Given the description of an element on the screen output the (x, y) to click on. 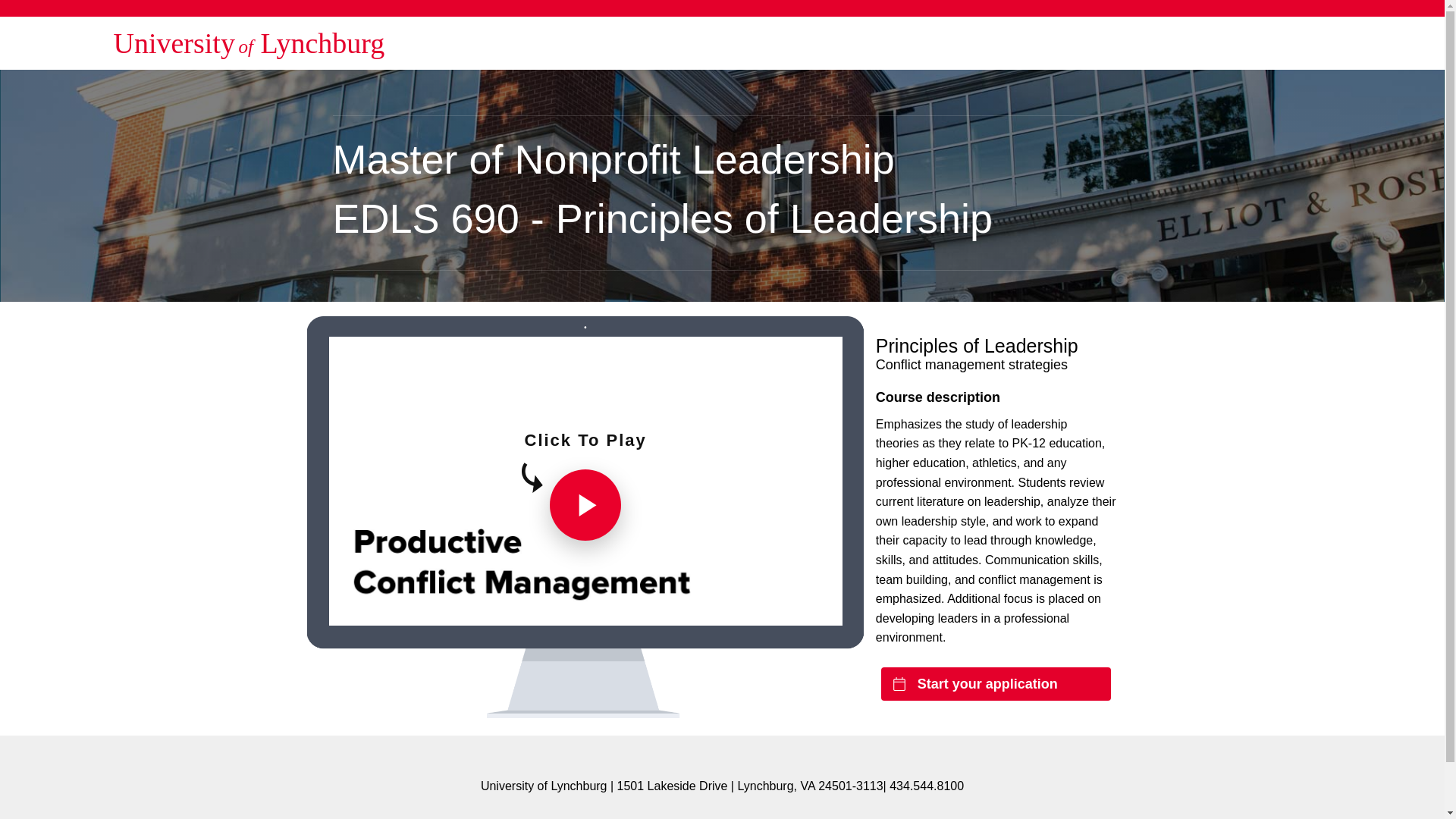
Privacy Policy (631, 814)
Non-Discrimination Statement (767, 814)
Start your application (995, 684)
University of Lynchburg (249, 42)
